Given the description of an element on the screen output the (x, y) to click on. 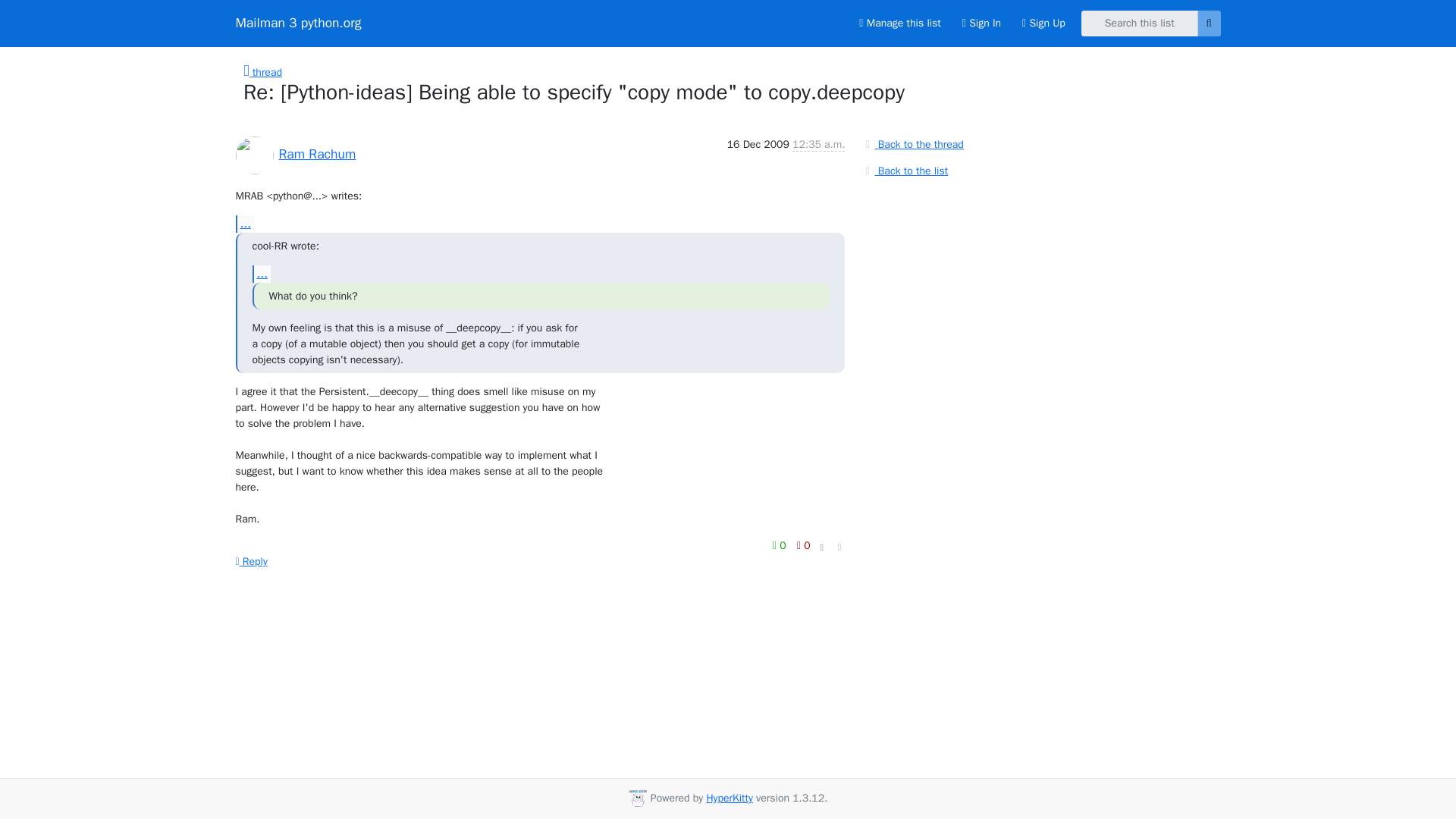
... (243, 223)
Sender's time: Dec. 15, 2009, 3:35 p.m. (818, 144)
You must be logged-in to vote. (780, 545)
0 (780, 545)
... (260, 273)
Reply (250, 561)
Back to the thread (911, 144)
Ram Rachum (317, 153)
You must be logged-in to vote. (803, 545)
Back to the list (903, 169)
Manage this list (899, 22)
Reply (250, 561)
0 (803, 545)
Sign Up (1043, 22)
HyperKitty (729, 797)
